Given the description of an element on the screen output the (x, y) to click on. 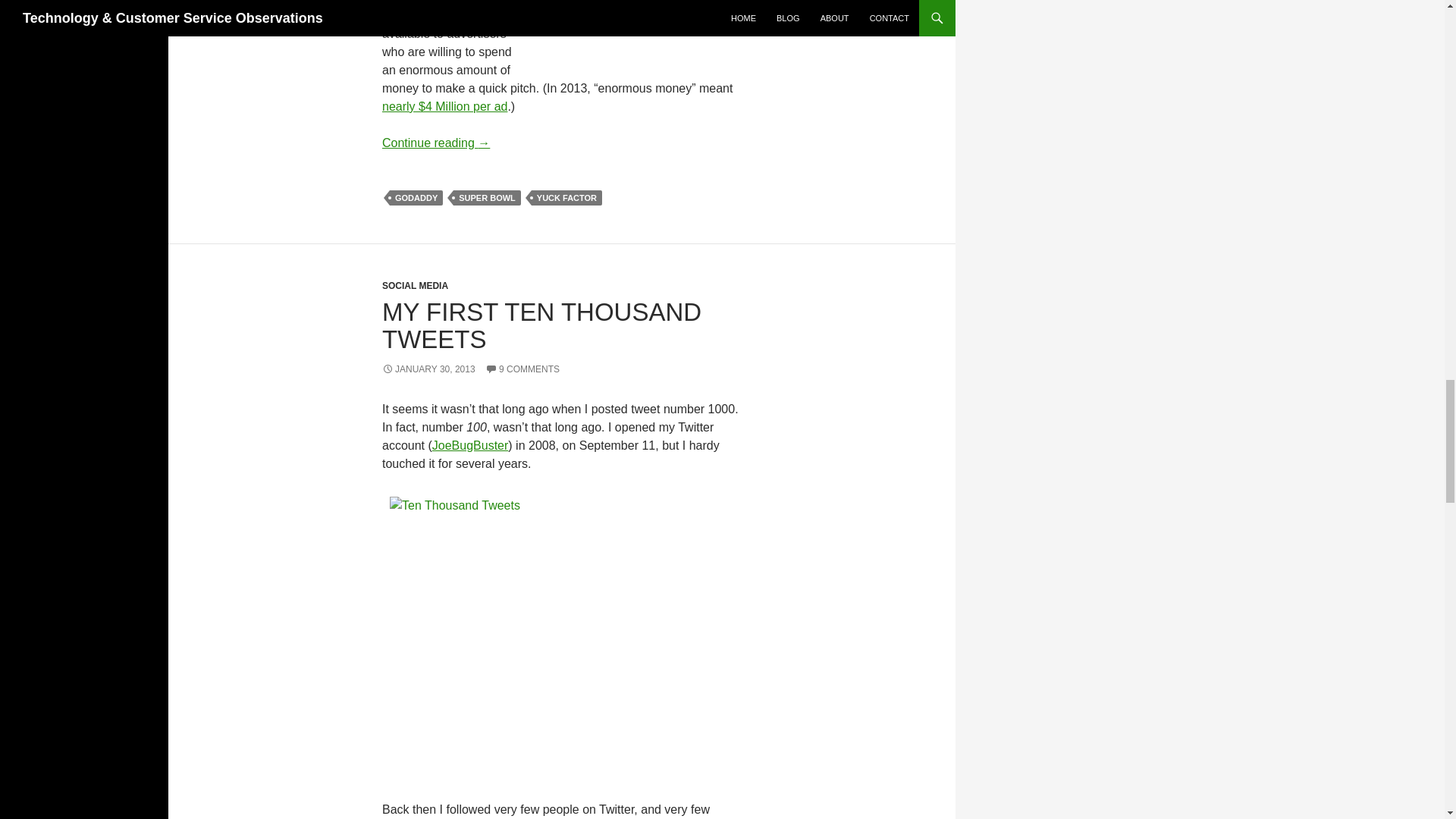
JoeBugBuster at Twitter (470, 445)
Cost of 2013 Super Bowl ads (443, 106)
10K Tweets (565, 645)
Super Bowl TV Ad (702, 33)
